Given the description of an element on the screen output the (x, y) to click on. 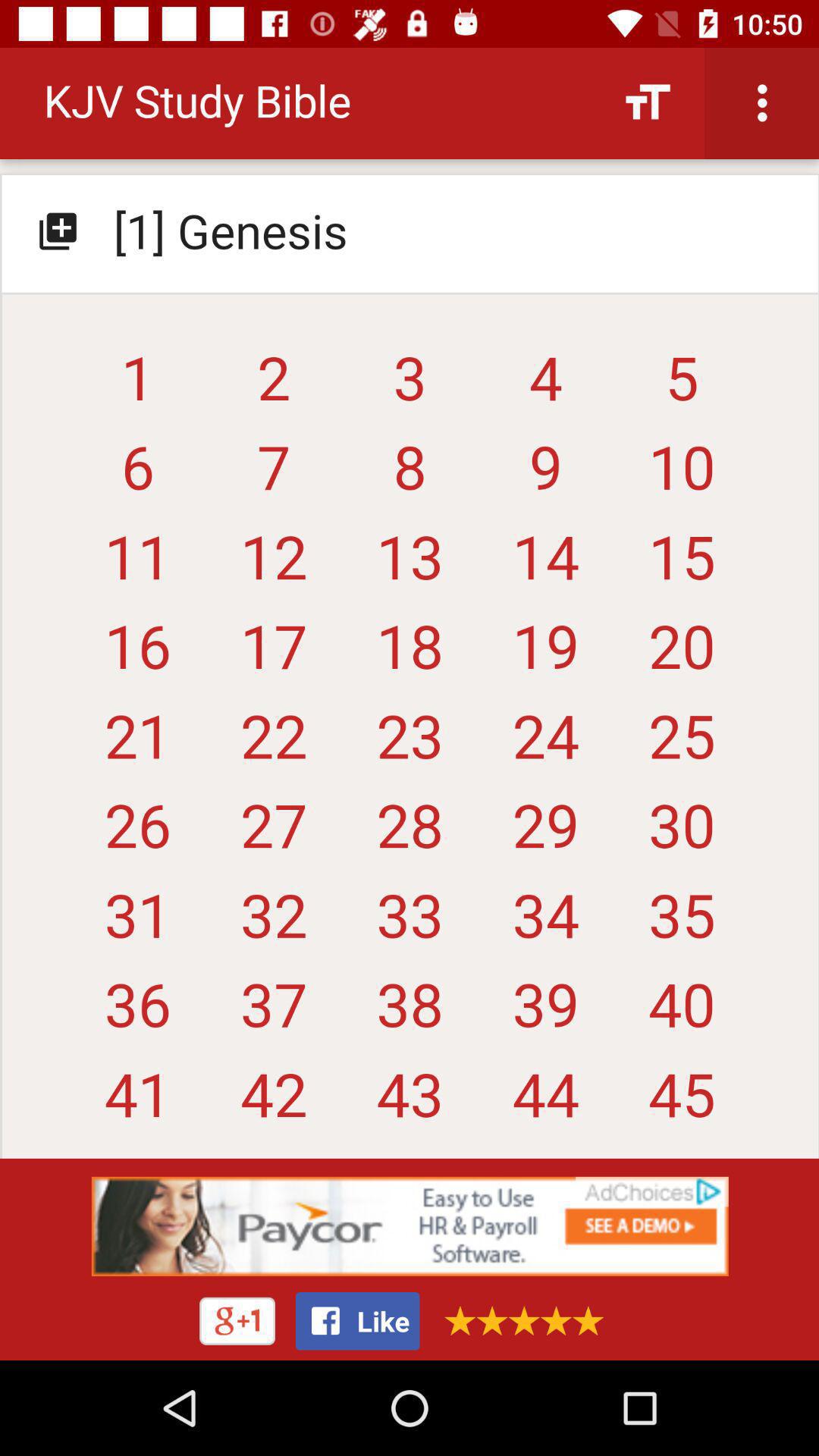
leave rating (518, 1320)
